Given the description of an element on the screen output the (x, y) to click on. 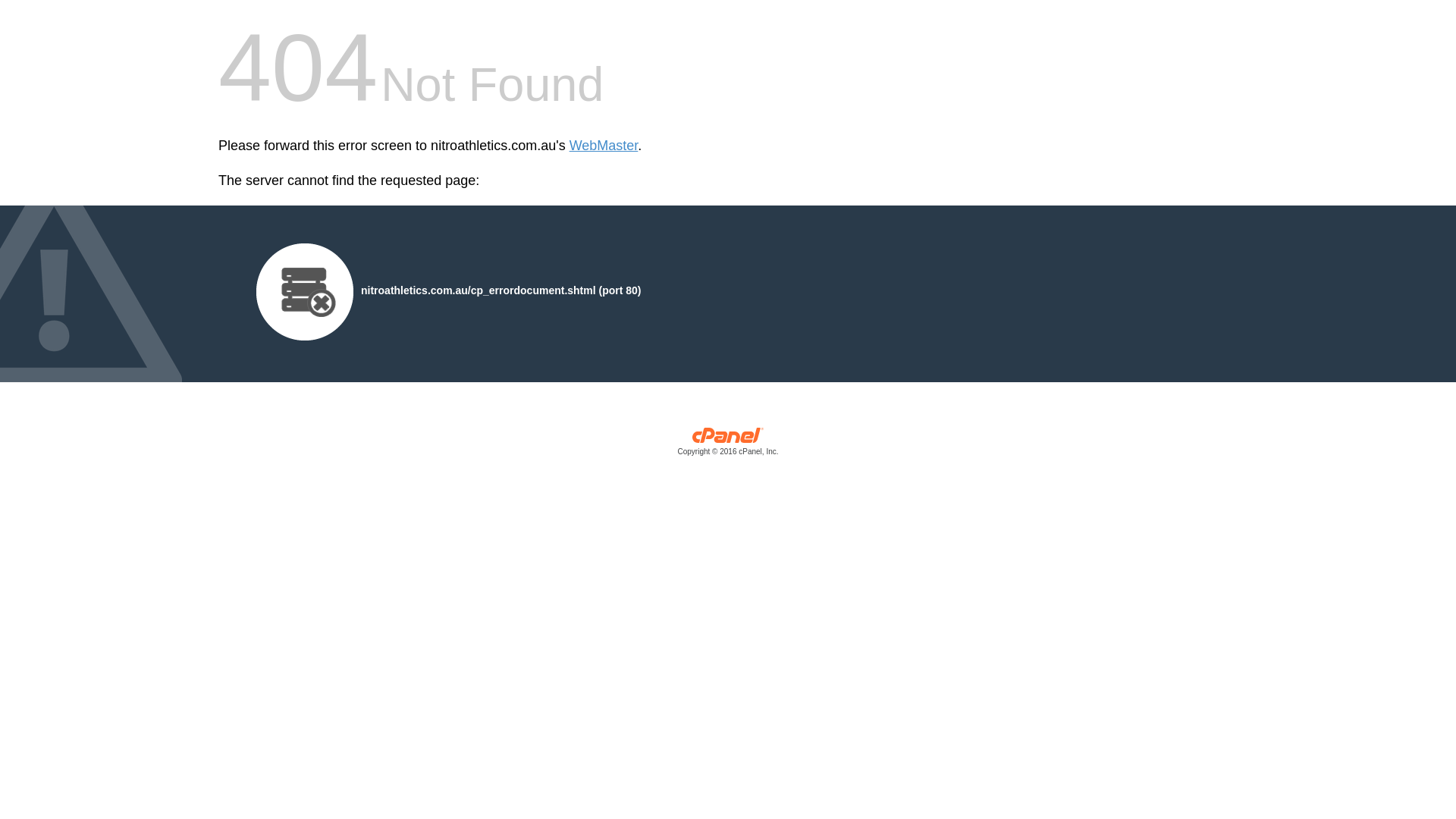
WebMaster Element type: text (603, 145)
